Given the description of an element on the screen output the (x, y) to click on. 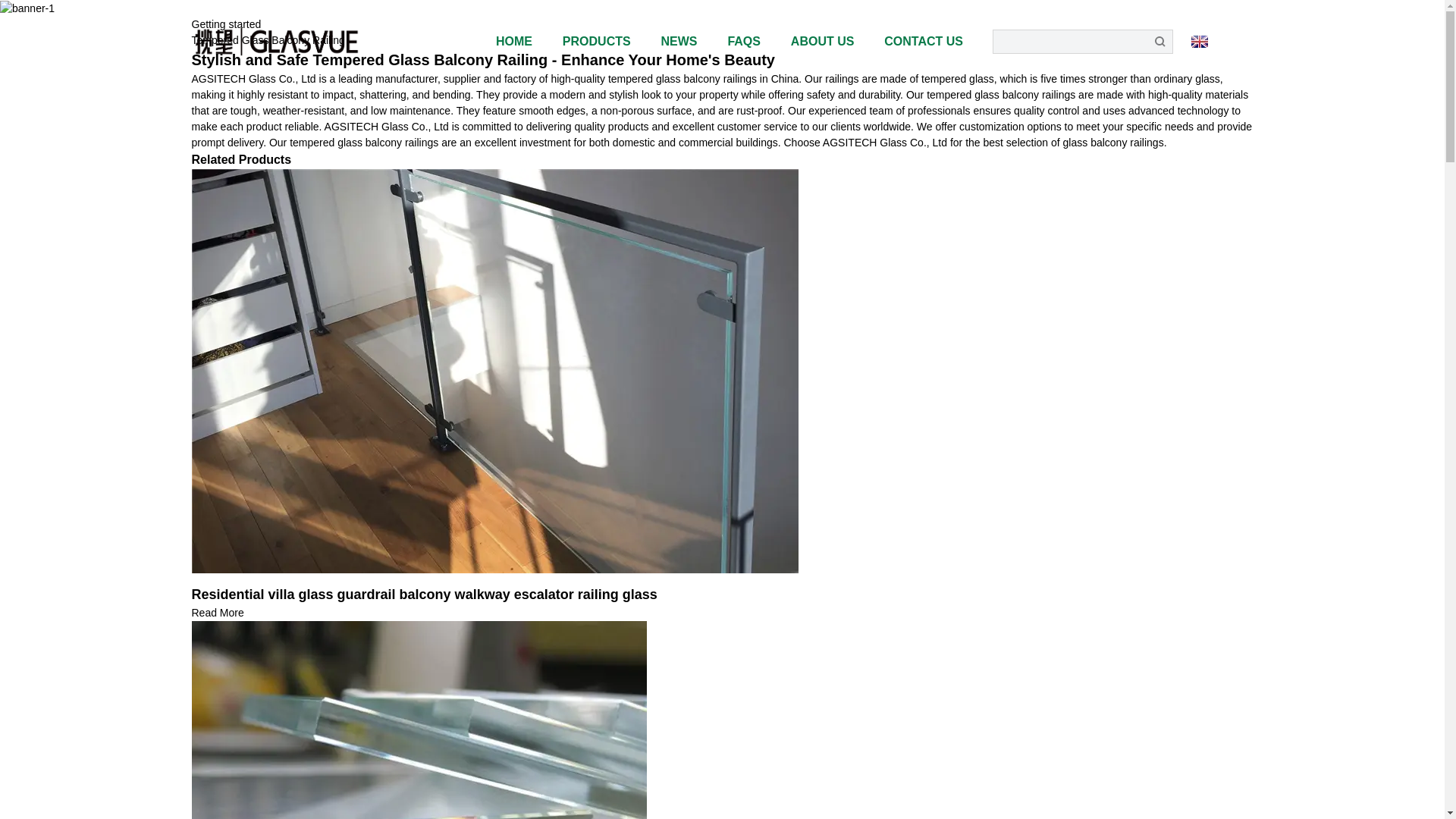
ABOUT US (822, 41)
Tempered Glass Balcony Railing (266, 39)
FAQS (743, 41)
HOME (513, 41)
NEWS (679, 41)
English (1220, 41)
